Given the description of an element on the screen output the (x, y) to click on. 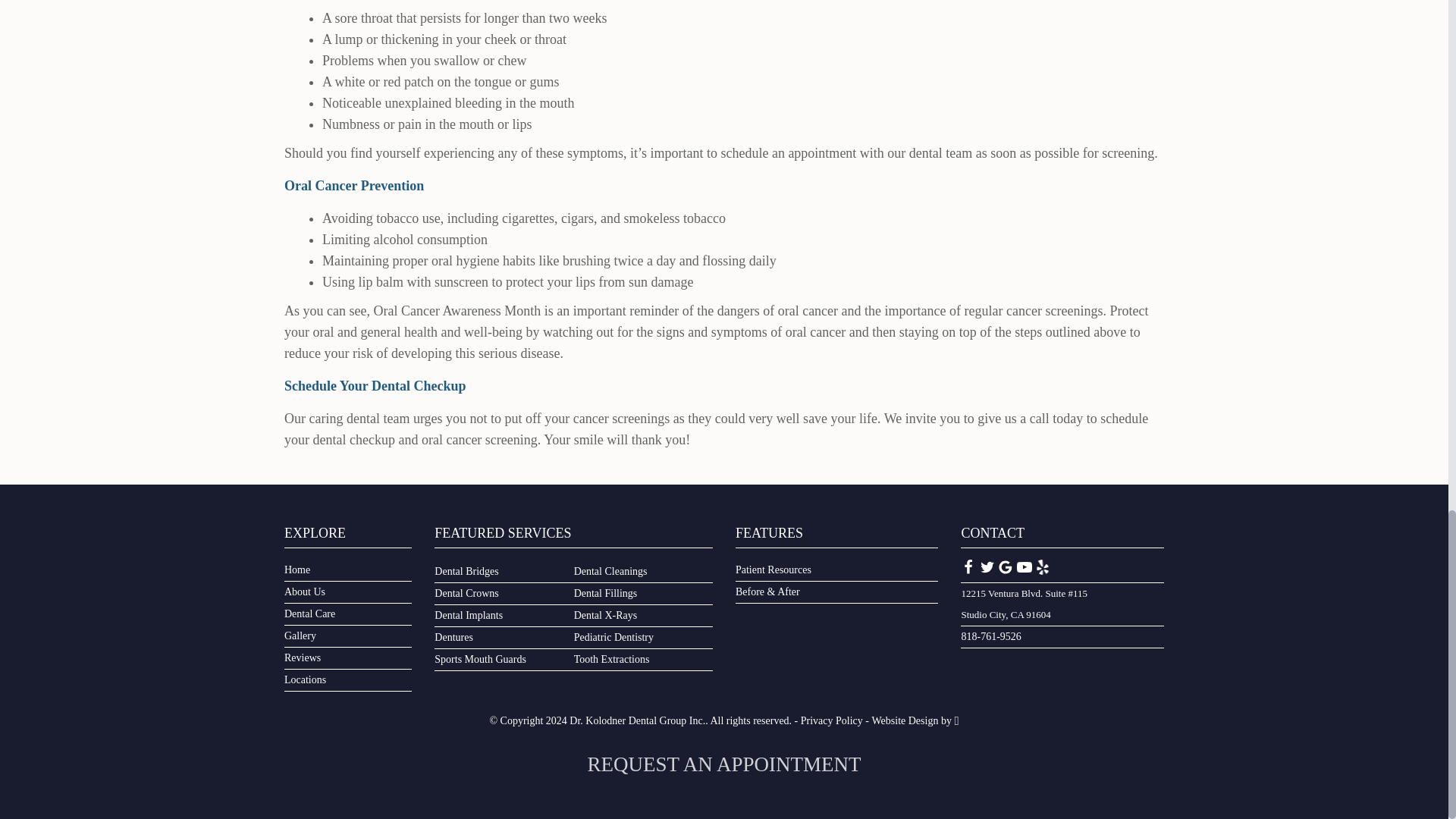
Google icon (1005, 566)
Facebook icon (967, 566)
Yelp icon (1042, 566)
Twitter icon (986, 566)
YouTube icon (1024, 566)
